Given the description of an element on the screen output the (x, y) to click on. 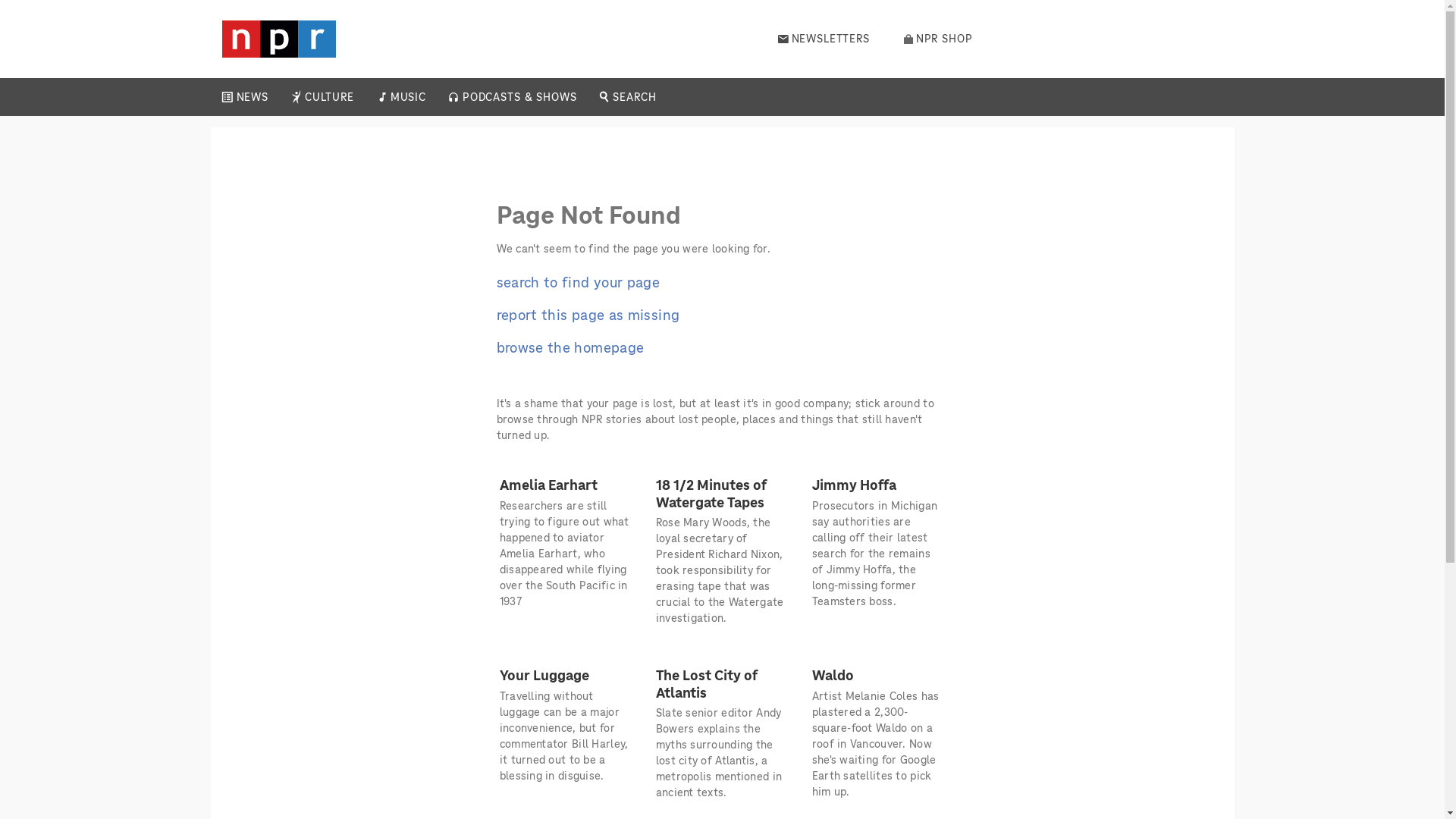
MUSIC (407, 96)
NEWS (251, 96)
CULTURE (328, 96)
NEWSLETTERS (823, 38)
NPR SHOP (938, 38)
